Given the description of an element on the screen output the (x, y) to click on. 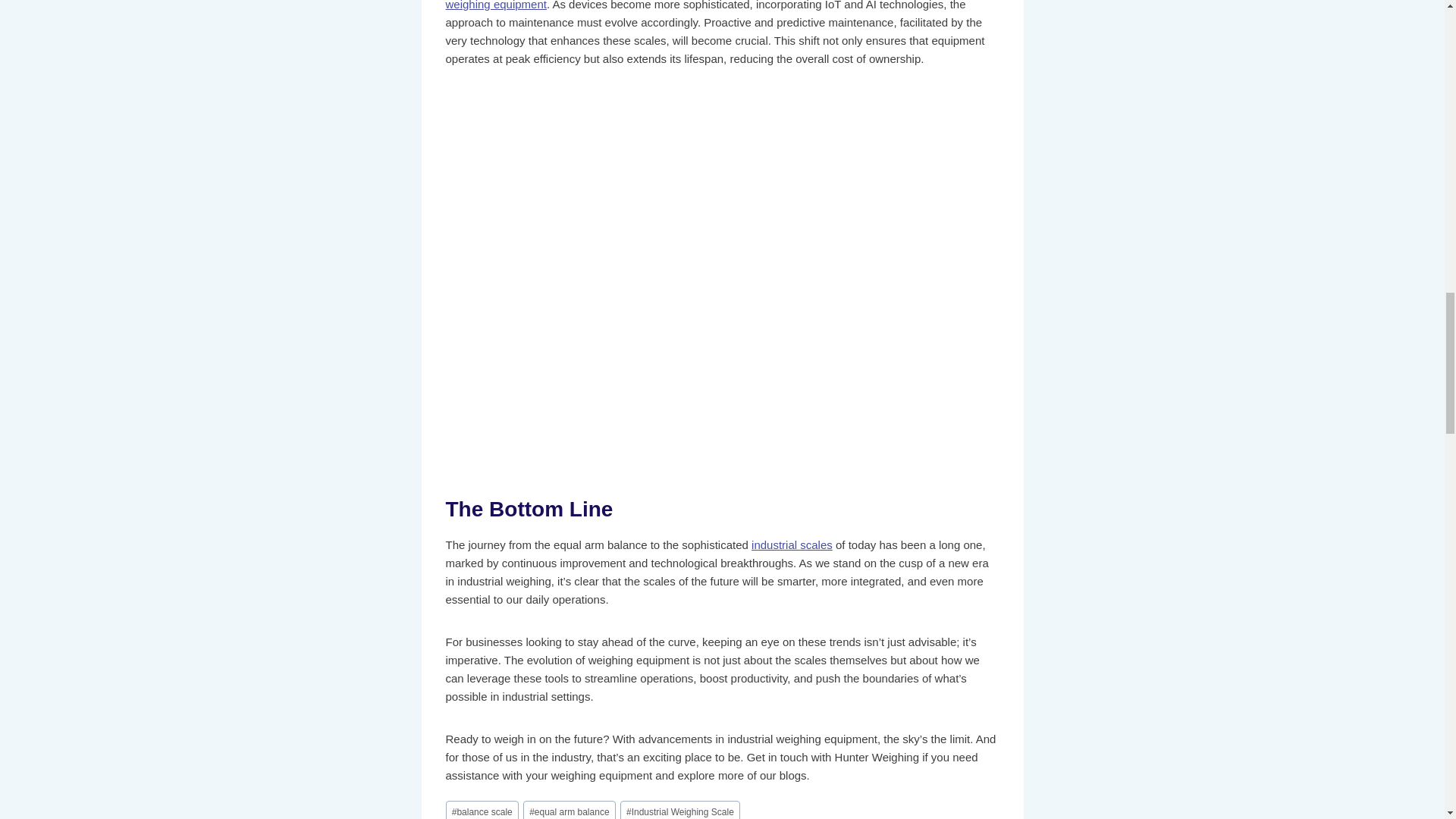
industrial scales (791, 544)
Industrial Weighing Scale (679, 809)
balance scale (481, 809)
maintenance practices for industrial weighing equipment (708, 5)
equal arm balance (568, 809)
